Given the description of an element on the screen output the (x, y) to click on. 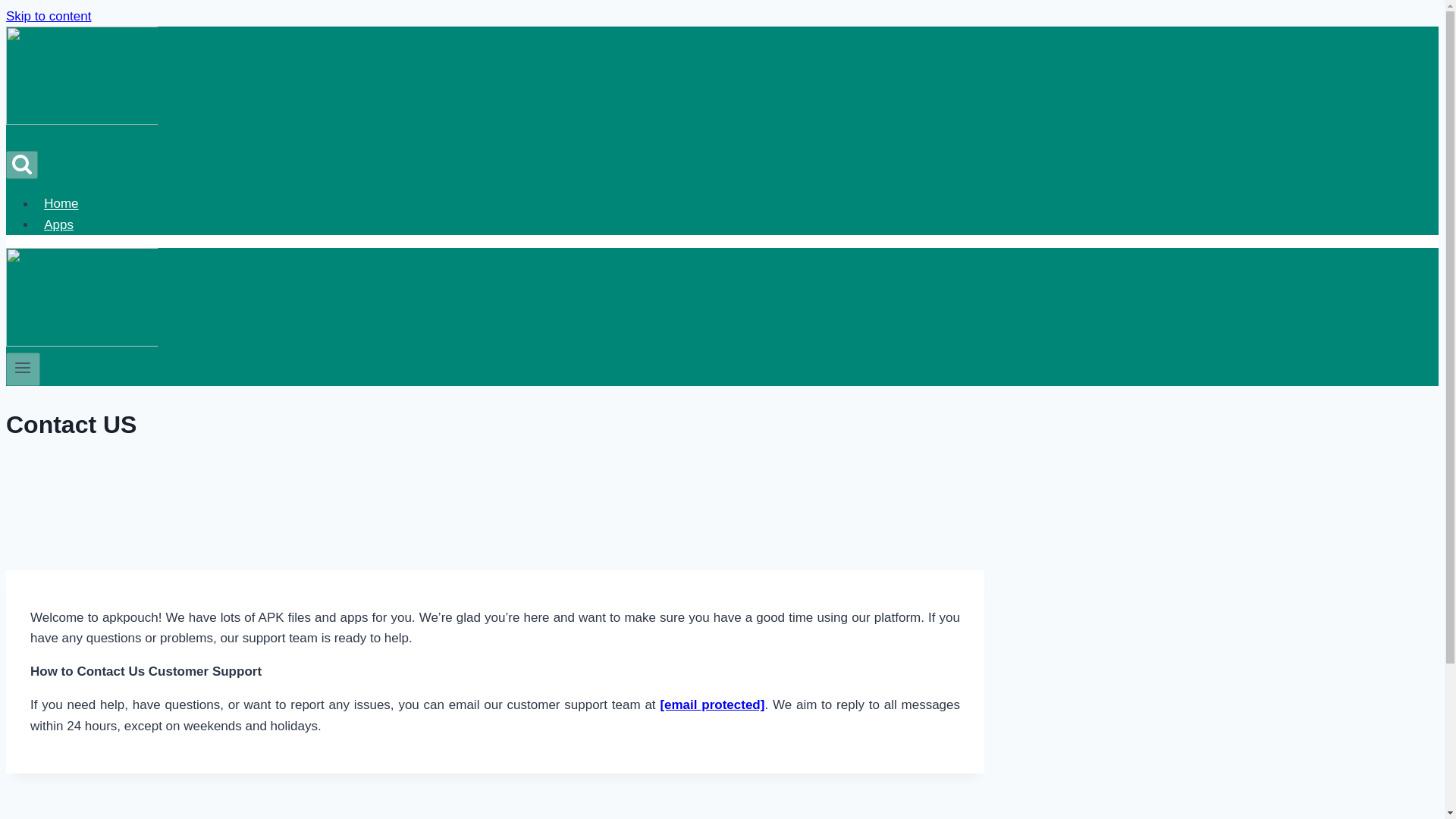
Search (21, 163)
Home (60, 203)
Toggle Menu (22, 368)
Apps (58, 224)
Toggle Menu (22, 367)
Skip to content (47, 16)
Search (21, 164)
Skip to content (47, 16)
